Given the description of an element on the screen output the (x, y) to click on. 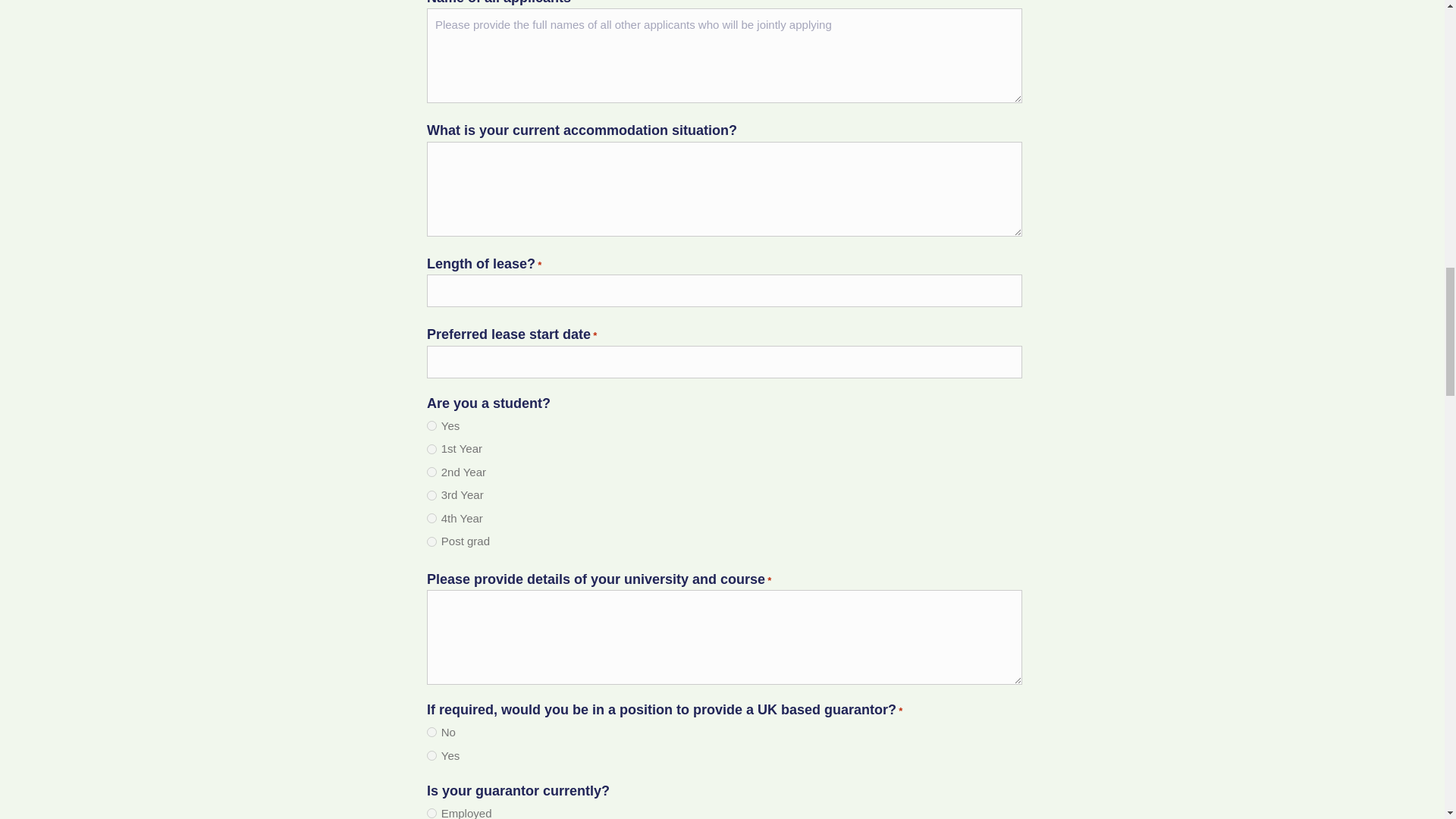
Yes (431, 425)
2nd Year (431, 471)
4th Year (431, 518)
Post grad (431, 542)
Employed (431, 813)
1st Year (431, 449)
No (431, 732)
3rd Year (431, 495)
Yes (431, 755)
